Given the description of an element on the screen output the (x, y) to click on. 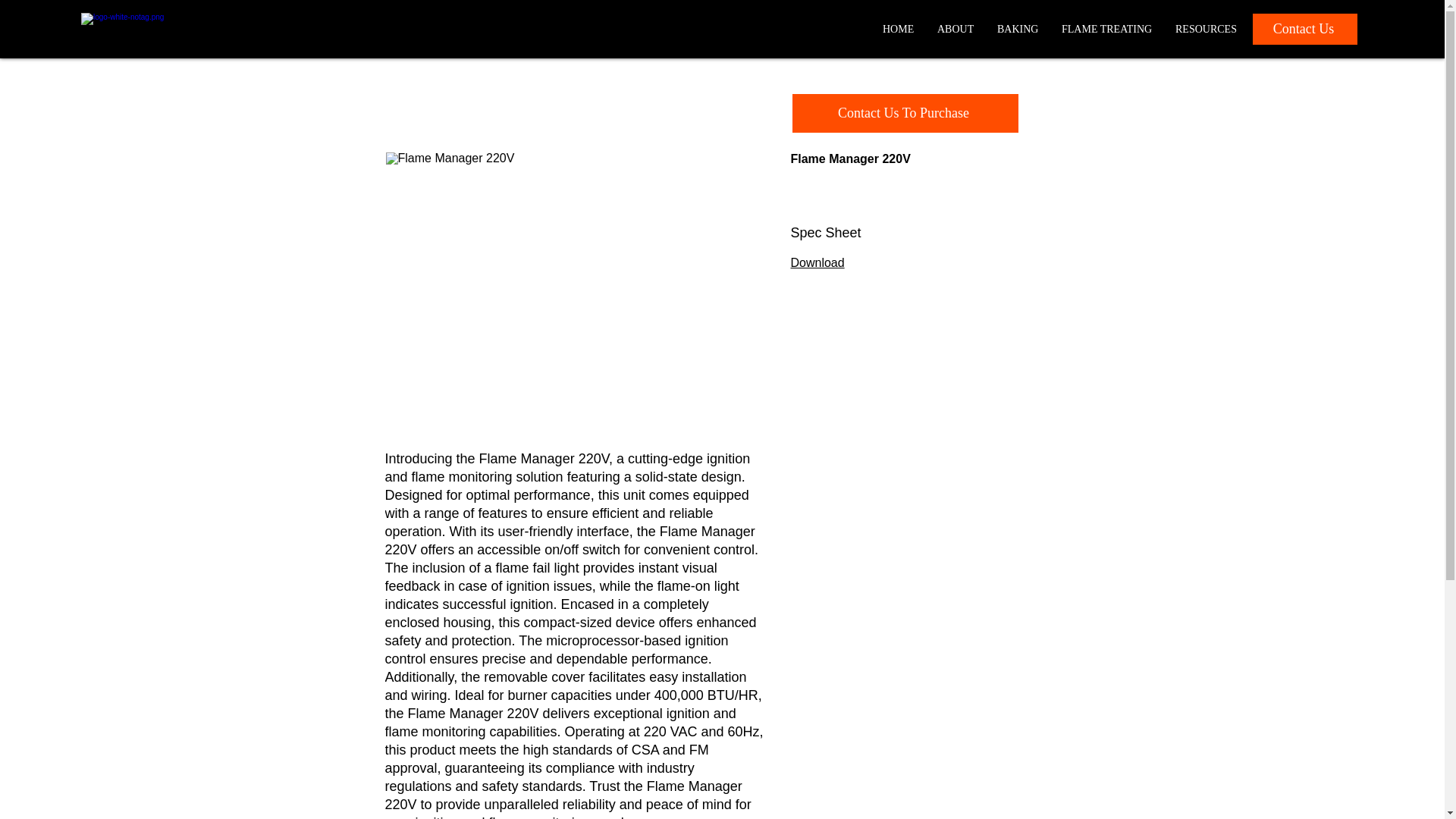
FLAME TREATING (1106, 29)
ABOUT (954, 29)
Contact Us (1304, 29)
Contact Us To Purchase (904, 113)
Download (817, 262)
BAKING (1017, 29)
HOME (897, 29)
